Given the description of an element on the screen output the (x, y) to click on. 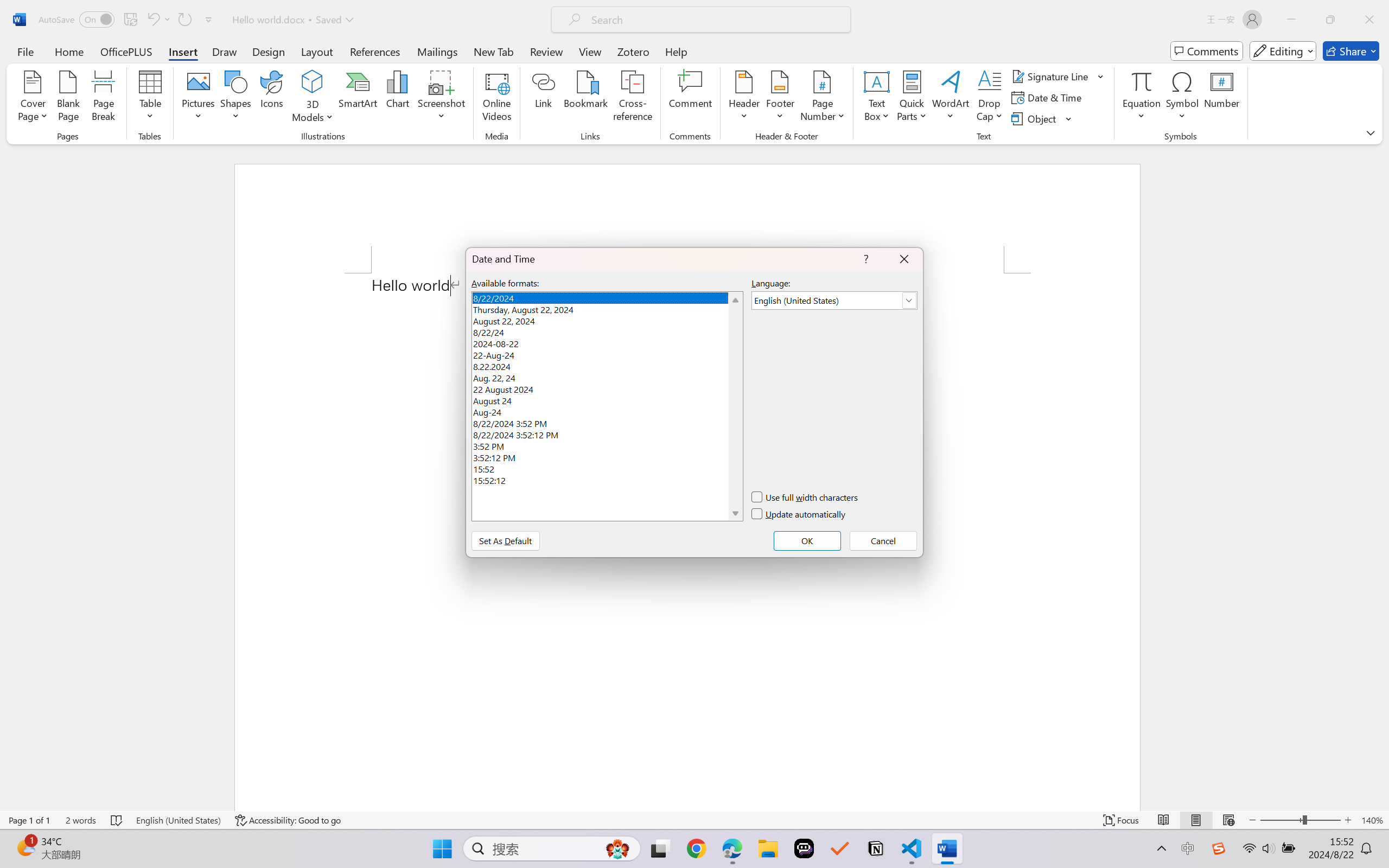
8/22/2024 3:52:12 PM (606, 433)
References (375, 51)
Save (130, 19)
Cross-reference... (632, 97)
Update automatically (799, 513)
WordArt (950, 97)
Customize Quick Access Toolbar (208, 19)
Review (546, 51)
Equation (1141, 97)
Link (543, 97)
OfficePLUS (126, 51)
Quick Access Toolbar (127, 19)
